Given the description of an element on the screen output the (x, y) to click on. 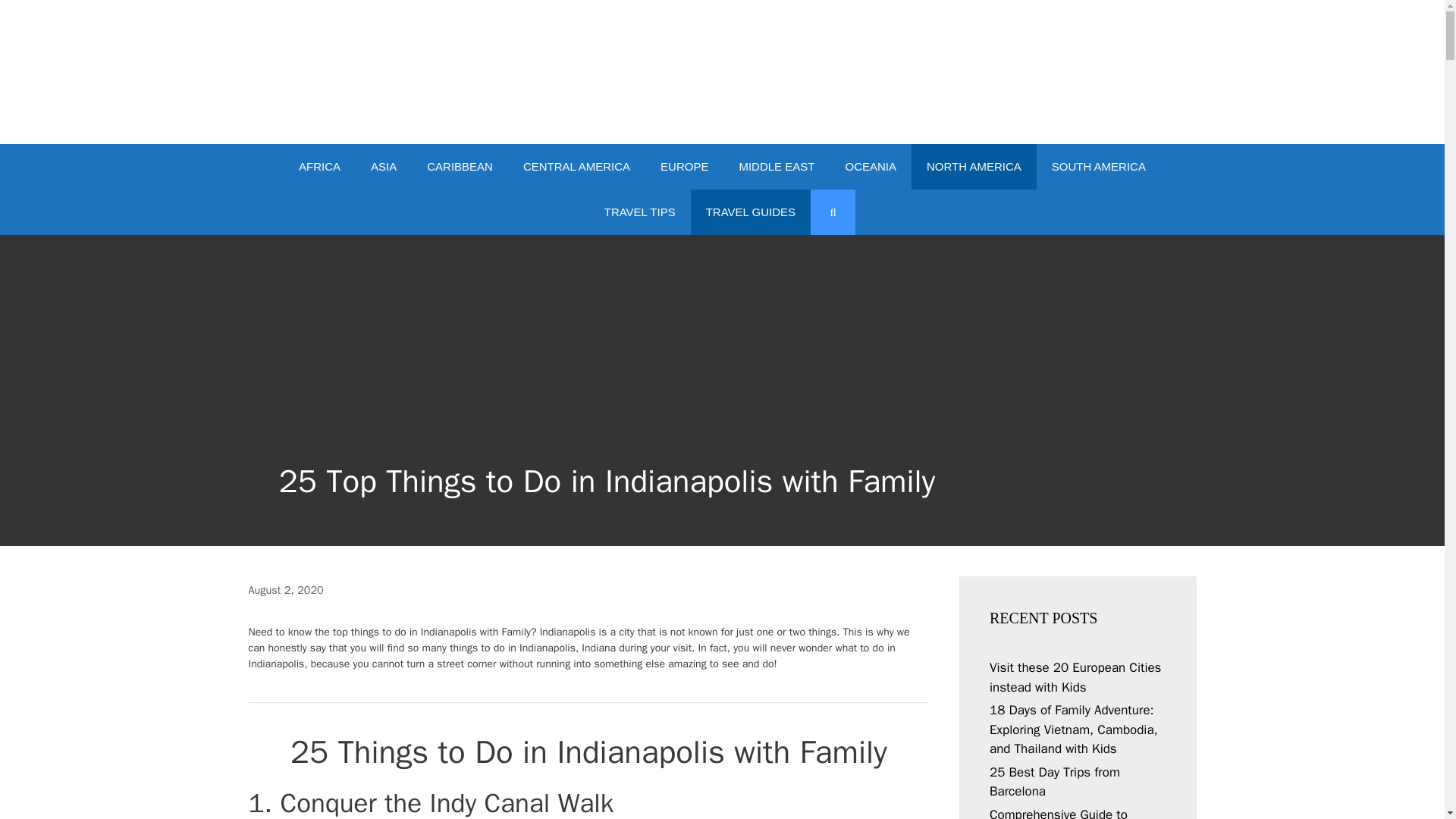
ASIA (383, 166)
EUROPE (684, 166)
TRAVEL TIPS (639, 212)
CARIBBEAN (460, 166)
SOUTH AMERICA (1098, 166)
TRAVEL GUIDES (750, 212)
MIDDLE EAST (776, 166)
NORTH AMERICA (973, 166)
OCEANIA (870, 166)
AFRICA (319, 166)
